Given the description of an element on the screen output the (x, y) to click on. 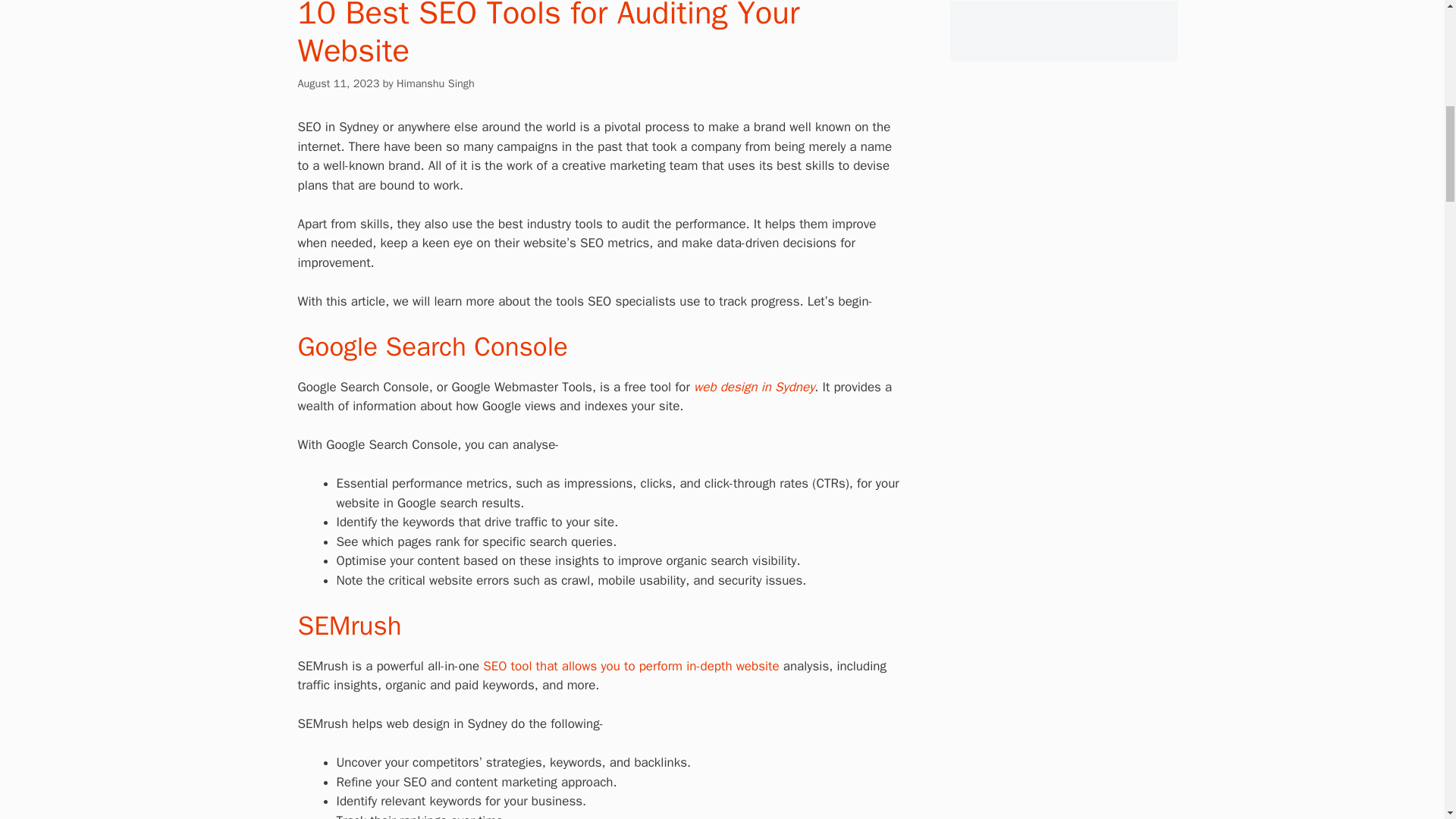
SEO tool that allows you to perform in-depth website (630, 666)
View all posts by Himanshu Singh (435, 82)
Himanshu Singh (435, 82)
web design in Sydney (753, 386)
